Given the description of an element on the screen output the (x, y) to click on. 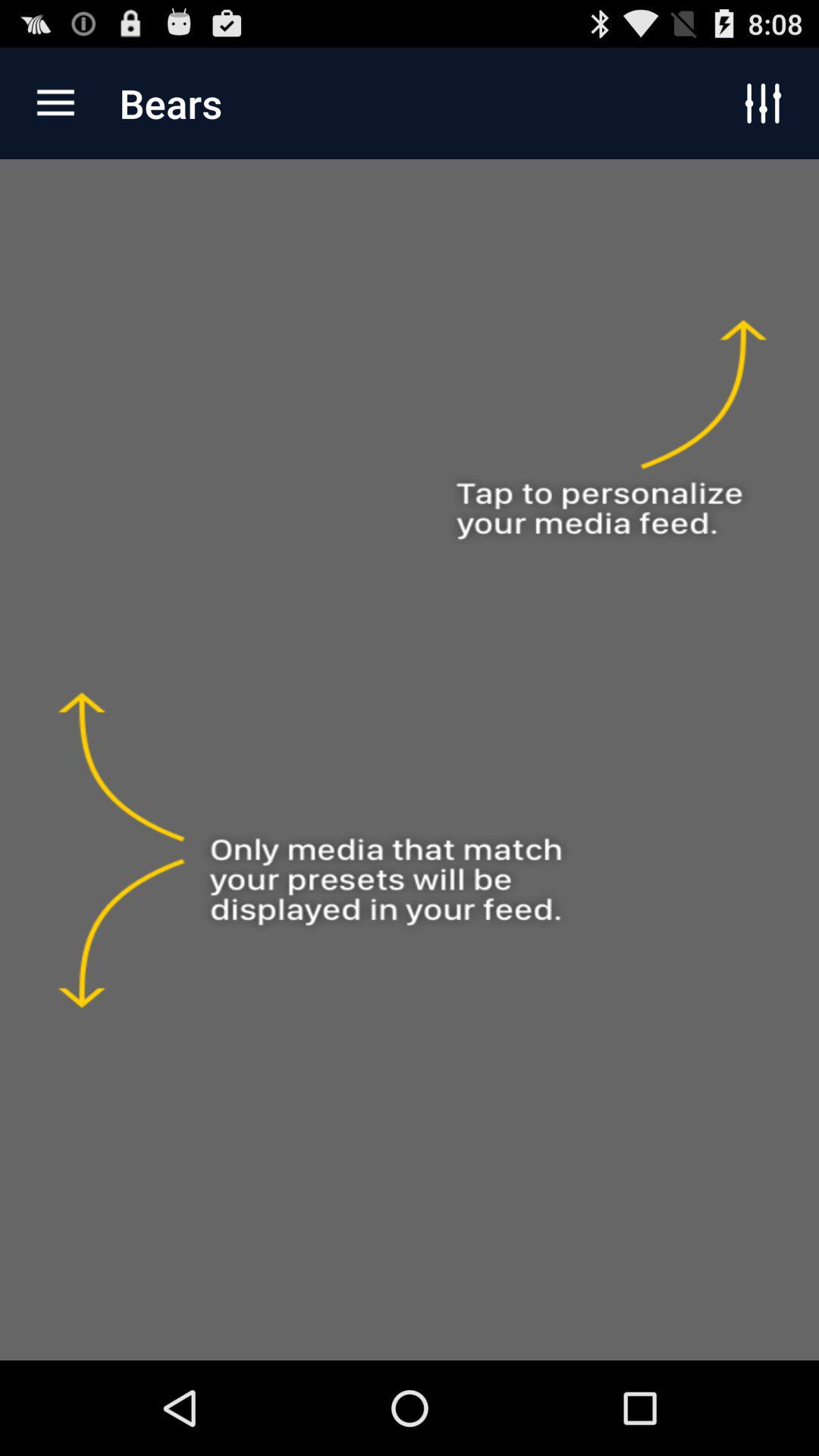
click the icon next to bears app (55, 103)
